Given the description of an element on the screen output the (x, y) to click on. 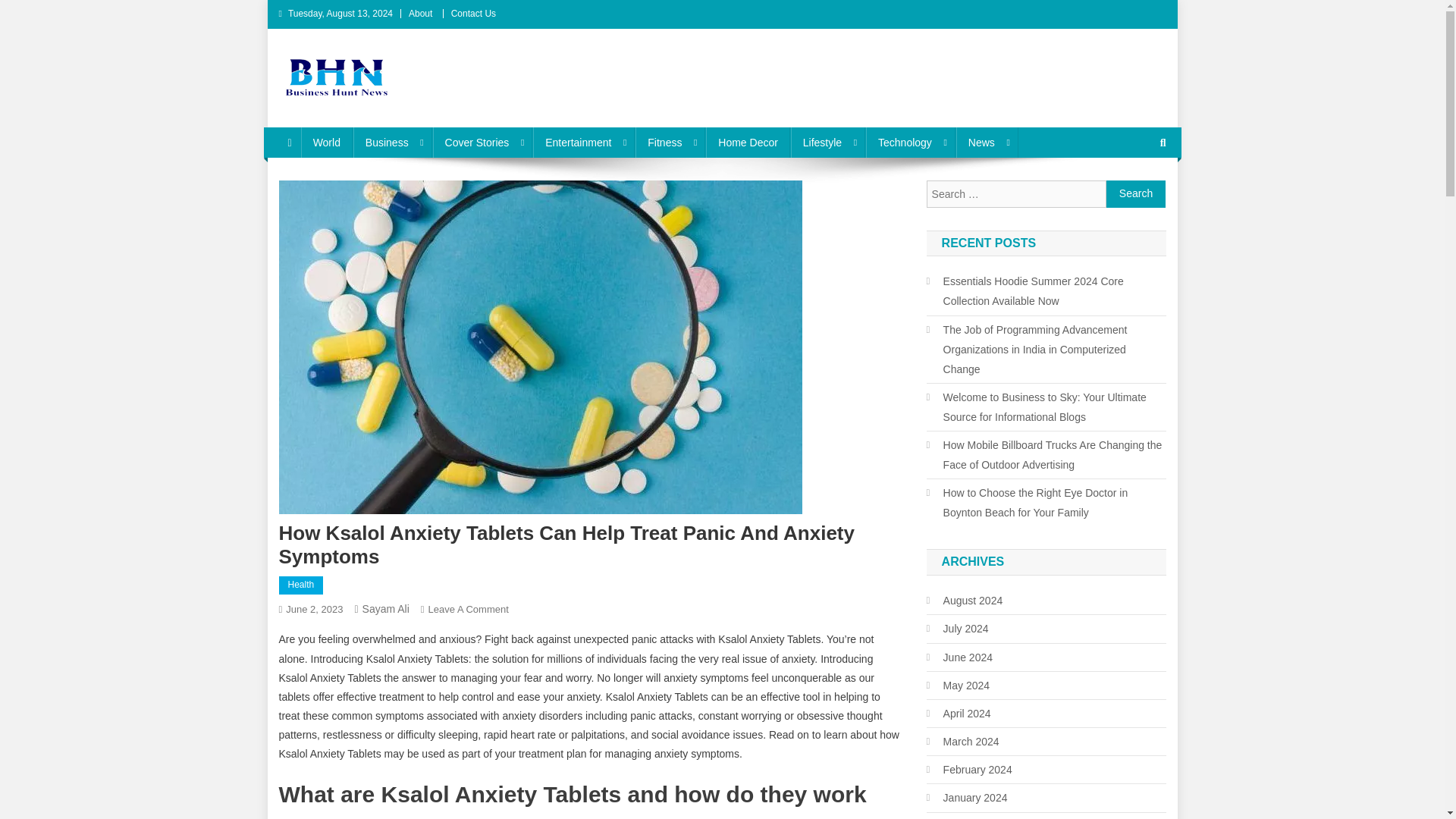
Business Hunt News (399, 112)
News (986, 142)
Lifestyle (827, 142)
Business (392, 142)
Technology (910, 142)
Entertainment (583, 142)
Home Decor (748, 142)
Cover Stories (482, 142)
About (420, 13)
Search (1136, 194)
